Given the description of an element on the screen output the (x, y) to click on. 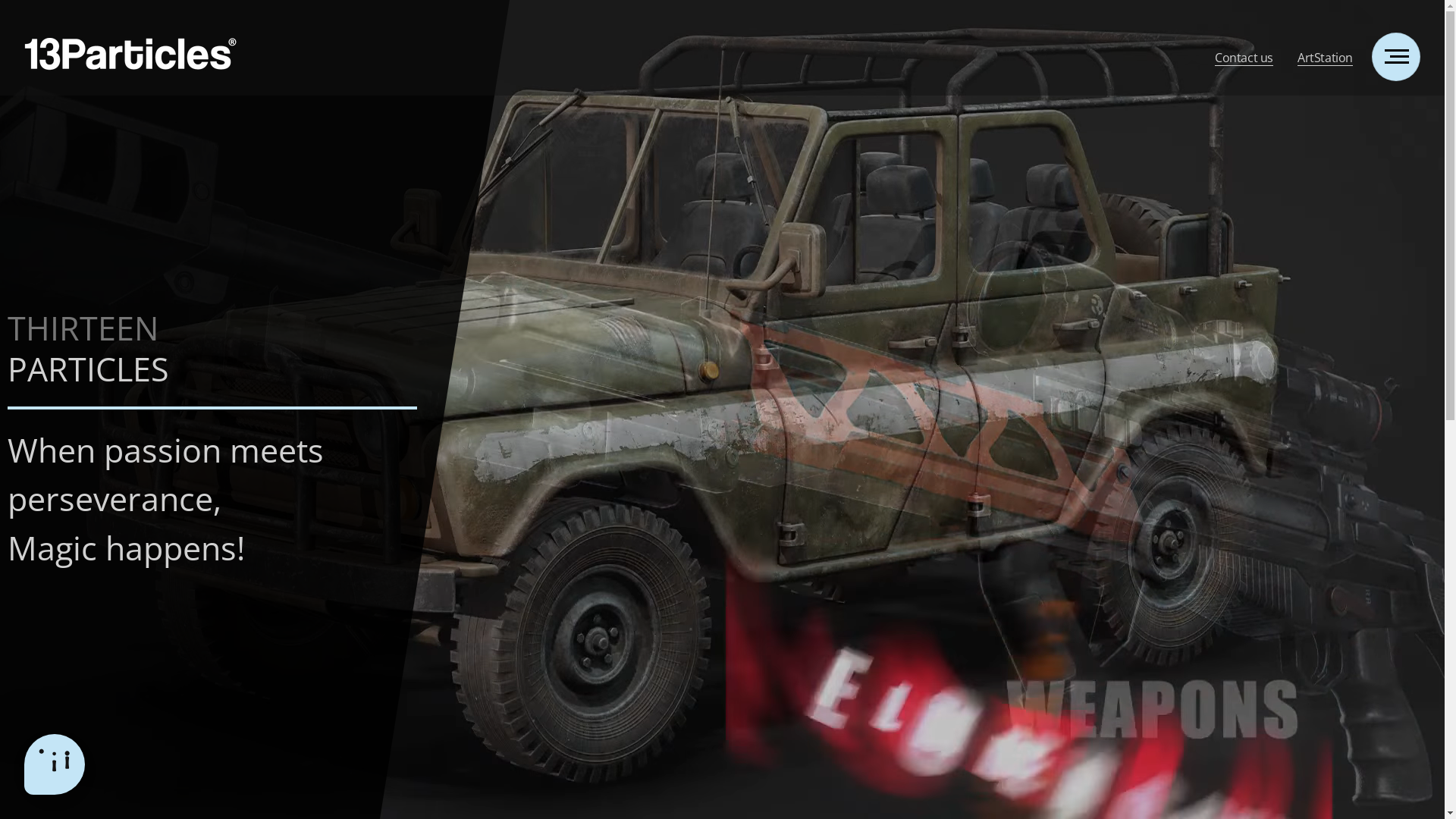
Contact us Element type: text (1243, 54)
ArtStation Element type: text (1324, 54)
